Given the description of an element on the screen output the (x, y) to click on. 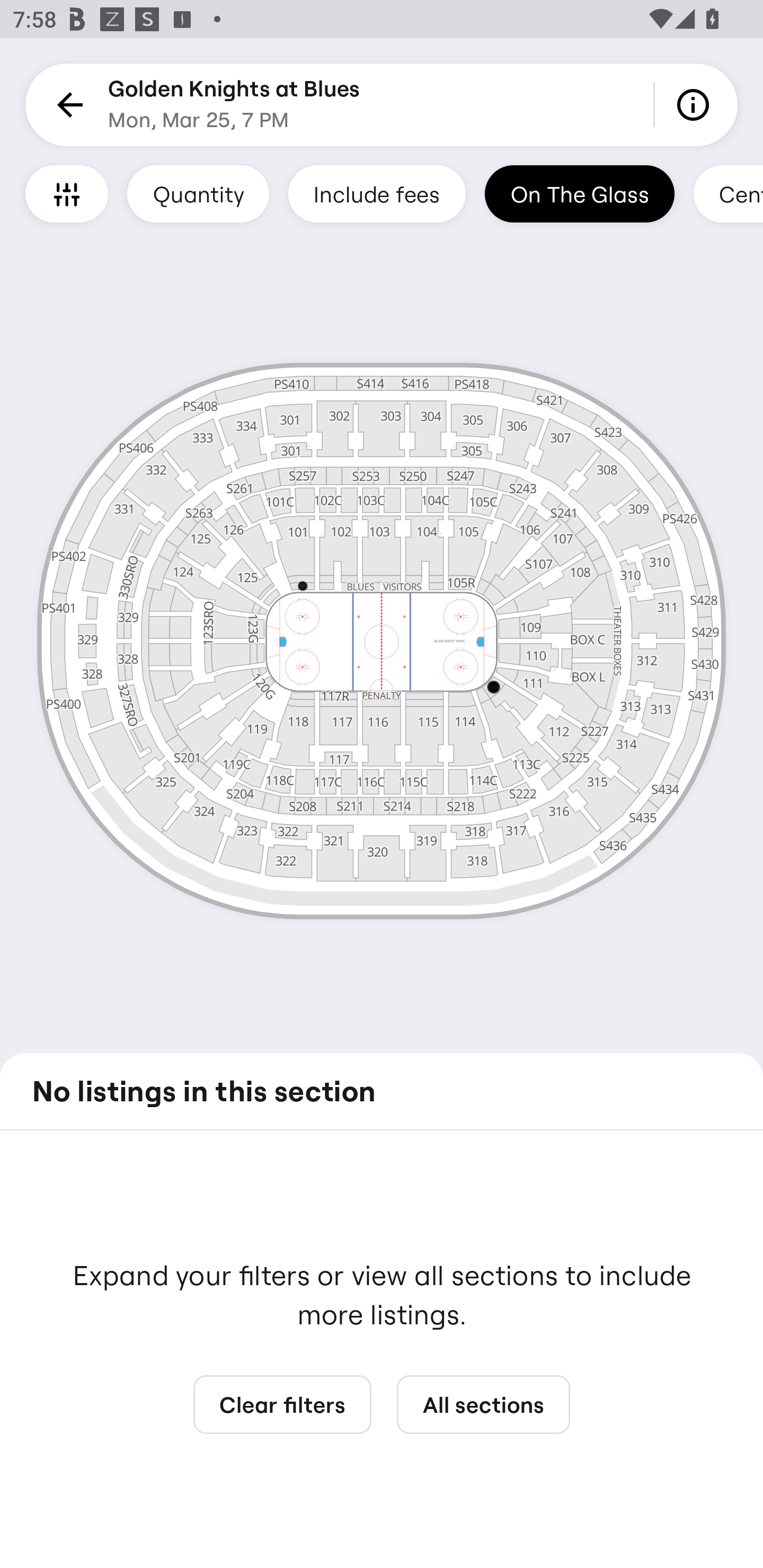
Back (66, 104)
Golden Knights at Blues Mon, Mar 25, 7 PM (234, 104)
Info (695, 104)
Filters and Accessible Seating (66, 193)
Quantity (198, 193)
Include fees (376, 193)
On The Glass (579, 193)
Clear filters (282, 1404)
All sections (482, 1404)
